Given the description of an element on the screen output the (x, y) to click on. 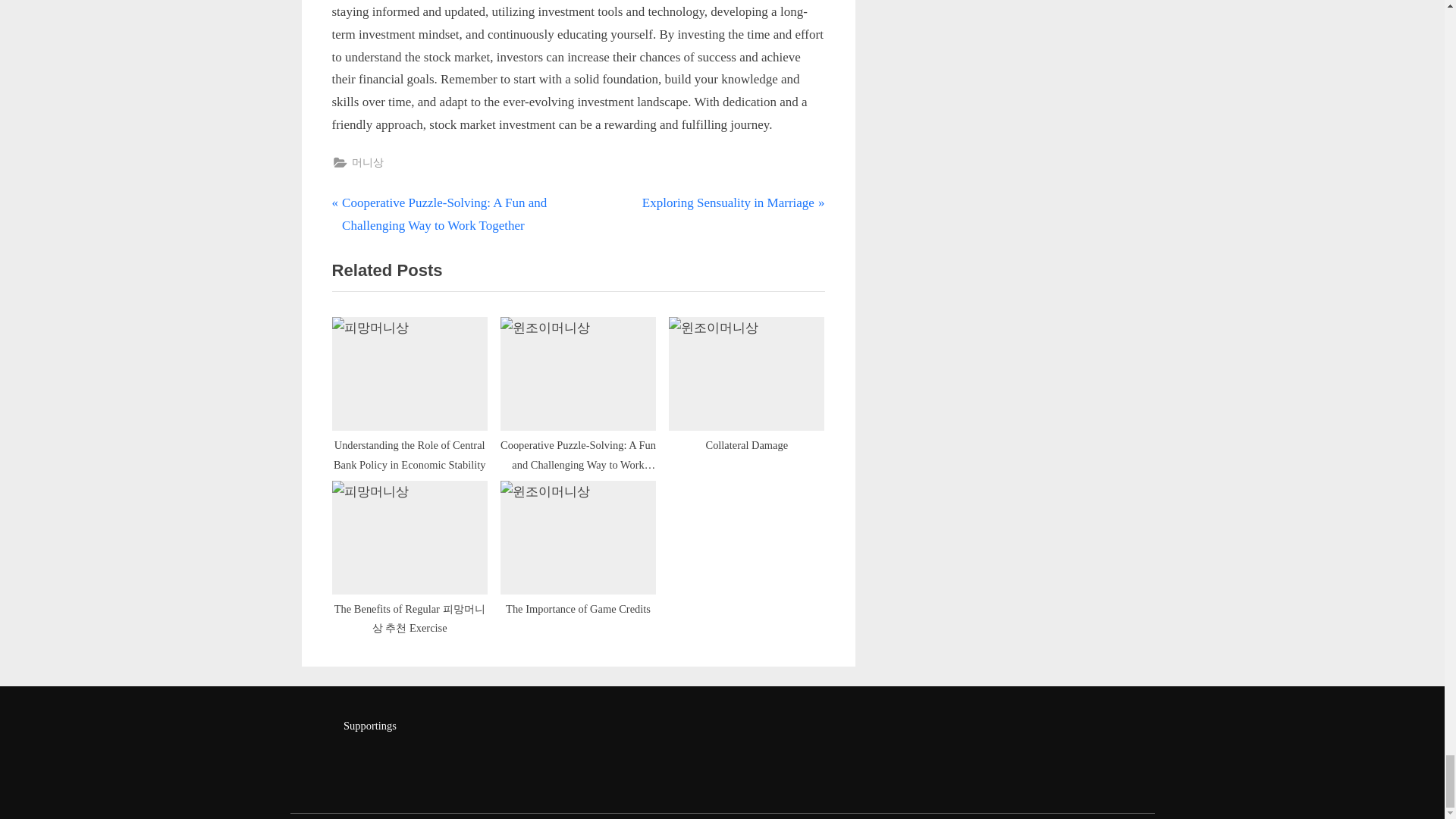
Collateral Damage (746, 388)
The Importance of Game Credits (733, 202)
